Given the description of an element on the screen output the (x, y) to click on. 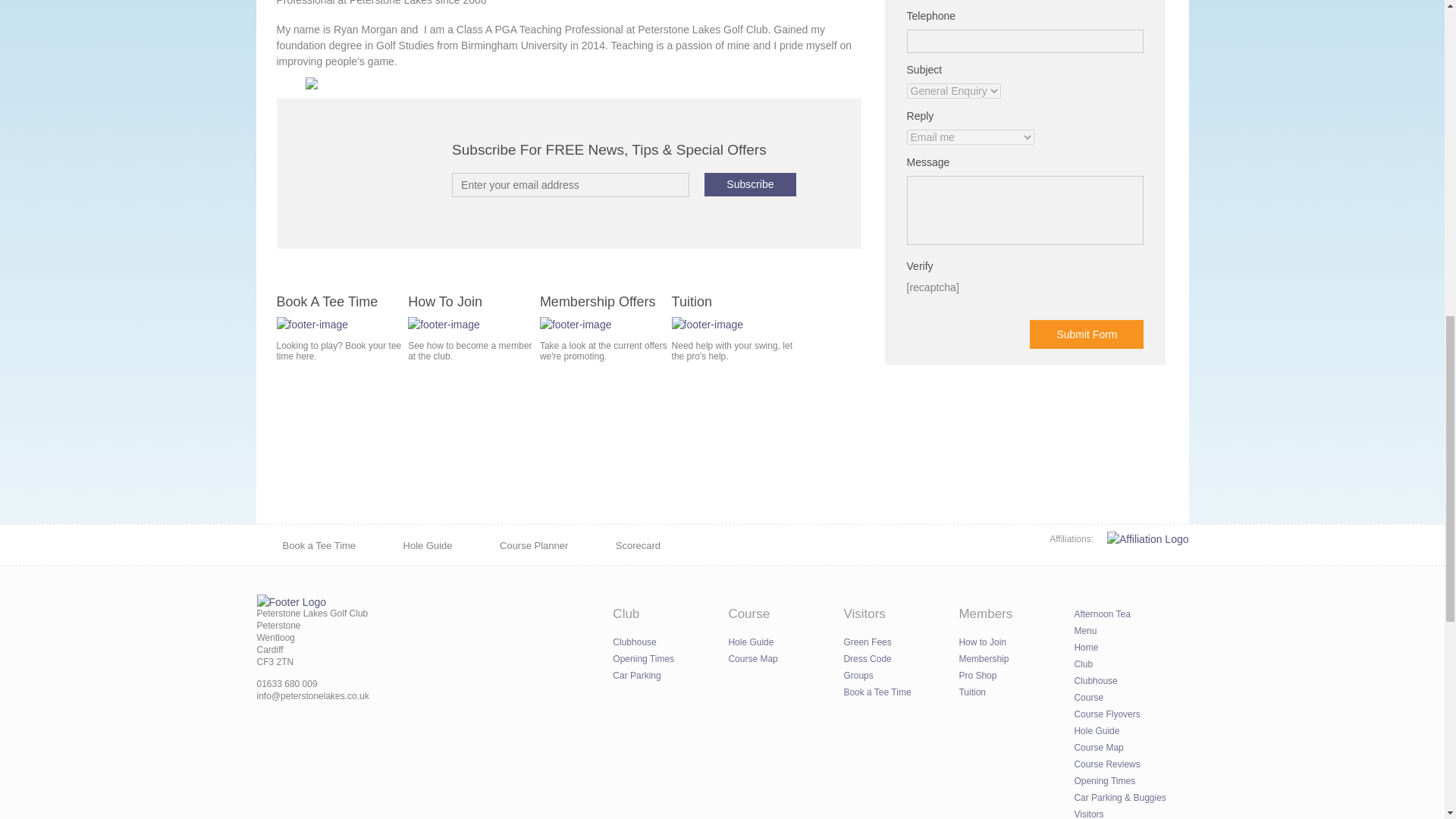
Subscribe (749, 184)
Submit Form (1085, 334)
Subscribe (749, 184)
